Given the description of an element on the screen output the (x, y) to click on. 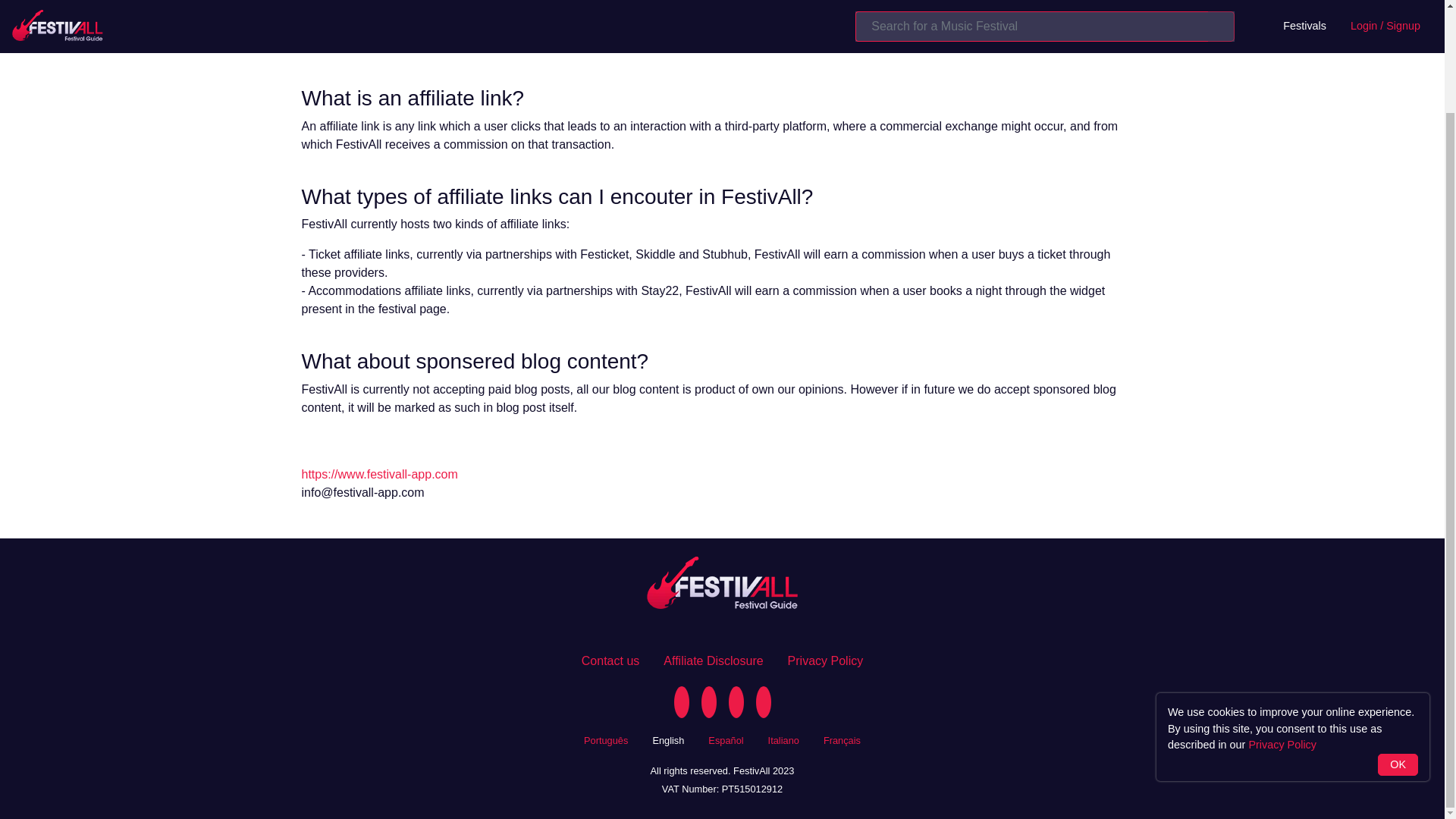
Contact us (609, 660)
Italiano (783, 739)
Privacy Policy (1281, 624)
English (668, 739)
OK (1397, 644)
Privacy Policy (825, 660)
OK (1397, 644)
Affiliate Disclosure (712, 660)
